Given the description of an element on the screen output the (x, y) to click on. 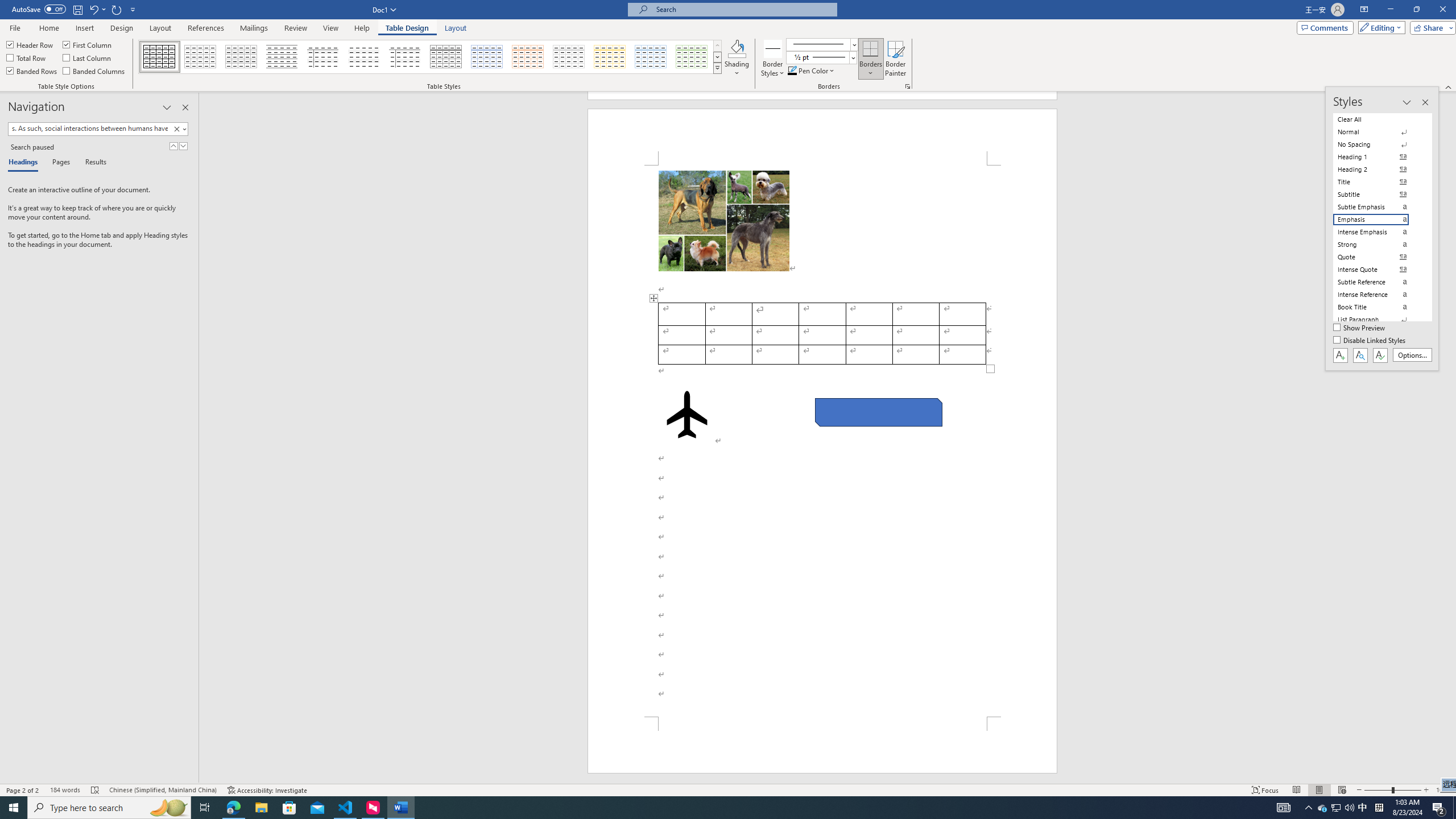
Rectangle: Diagonal Corners Snipped 2 (878, 412)
Table Grid (159, 56)
Banded Columns (94, 69)
Heading 2 (1377, 169)
Repeat Style (117, 9)
Grid Table 1 Light - Accent 3 (568, 56)
No Spacing (1377, 144)
Emphasis (1377, 219)
